Given the description of an element on the screen output the (x, y) to click on. 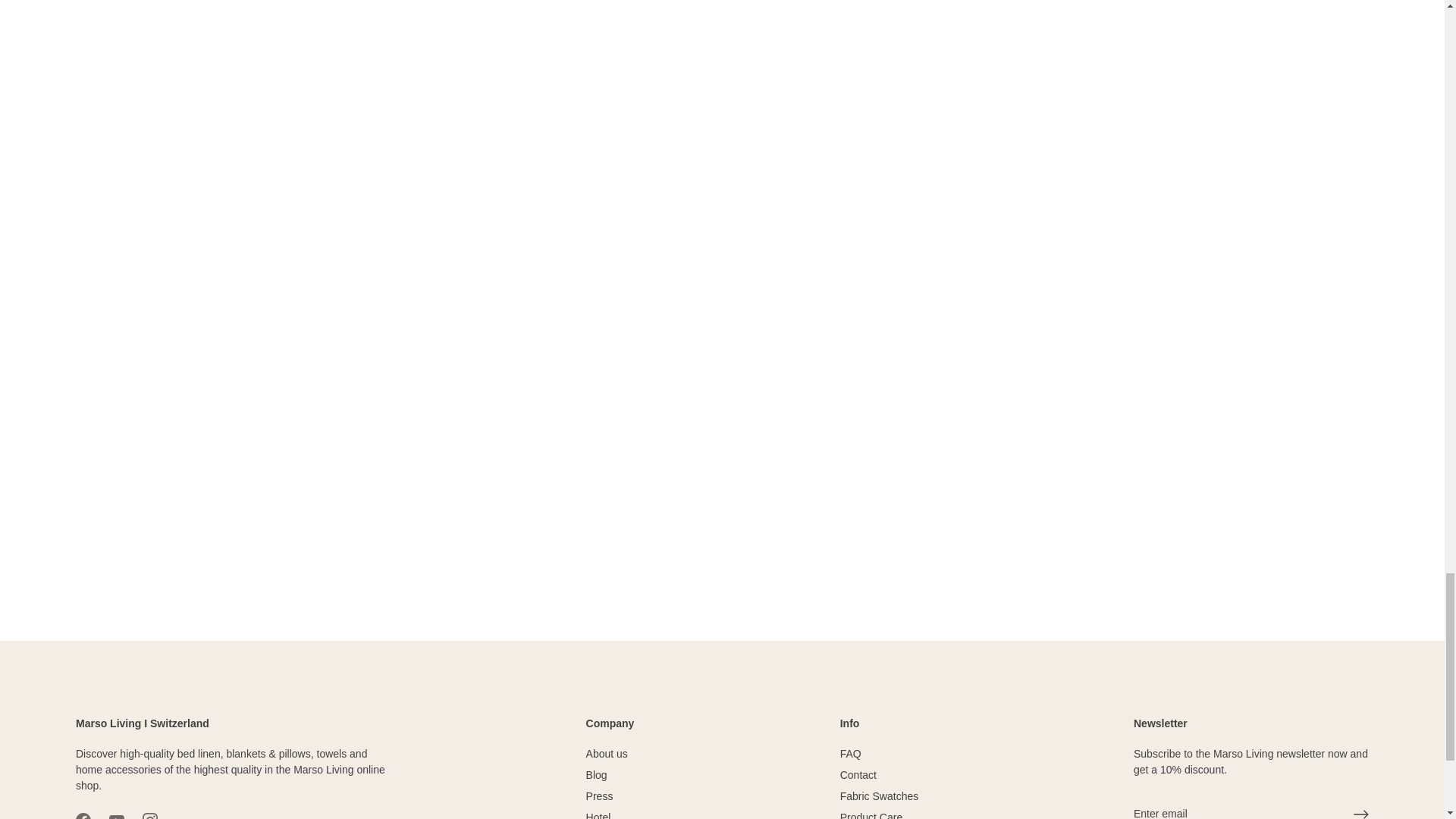
Youtube (116, 816)
Instagram (149, 816)
RIGHT ARROW LONG (1361, 812)
